Given the description of an element on the screen output the (x, y) to click on. 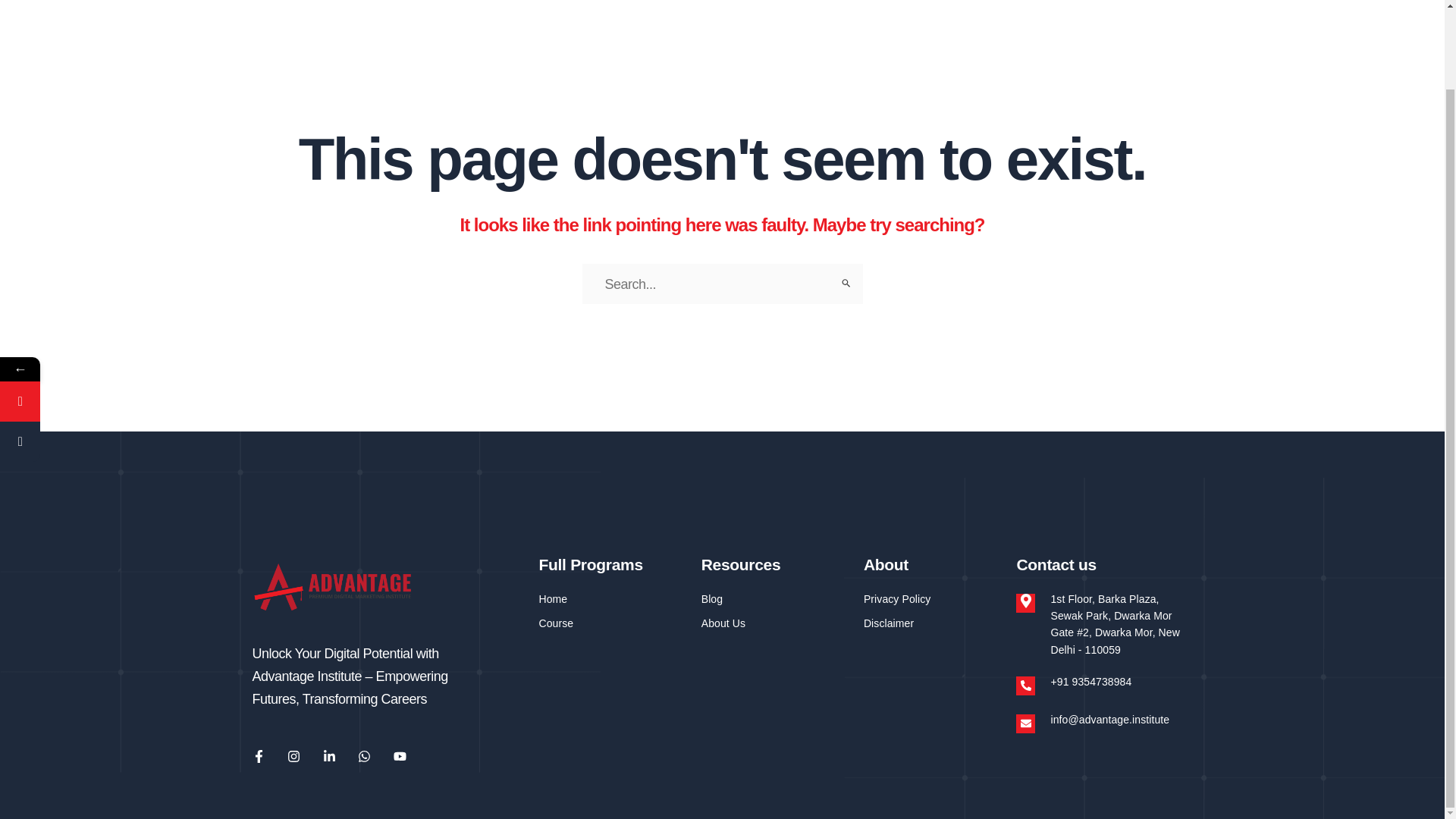
Phone (92, 352)
WhatsApp (92, 312)
Instagram (292, 756)
Whatsapp (364, 756)
Linkedin-in (329, 756)
WhatsApp (20, 312)
Blog (774, 598)
Phone (92, 352)
Search (844, 281)
Phone (20, 352)
Privacy Policy (932, 598)
Course (611, 623)
WhatsApp (92, 312)
Youtube (399, 756)
Search (844, 281)
